Given the description of an element on the screen output the (x, y) to click on. 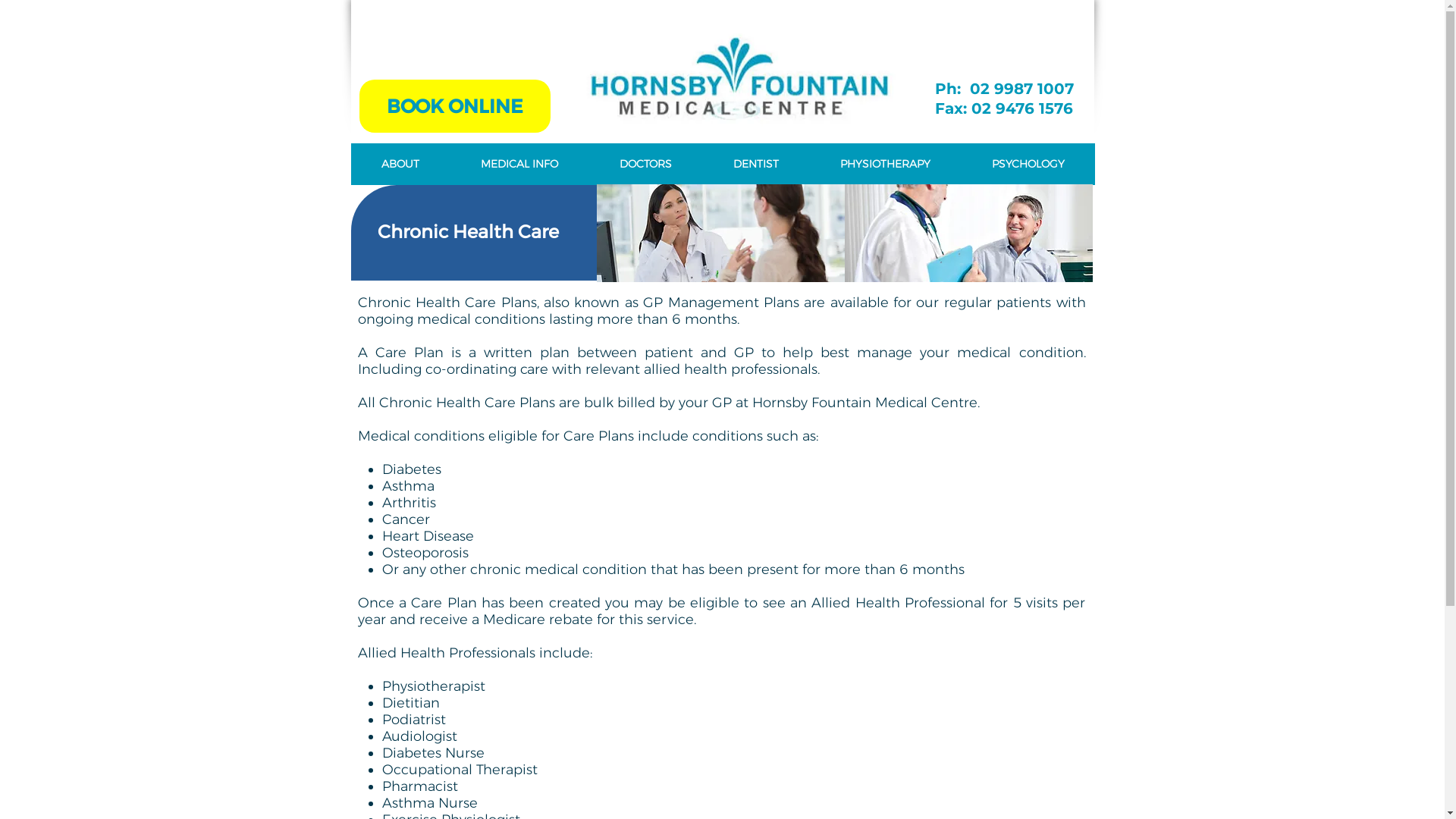
DENTIST Element type: text (755, 164)
PSYCHOLOGY Element type: text (1027, 164)
MEDICAL INFO Element type: text (517, 164)
BOOK ONLINE Element type: text (454, 105)
PHYSIOTHERAPY Element type: text (884, 164)
ABOUT Element type: text (399, 164)
DOCTORS Element type: text (645, 164)
